Given the description of an element on the screen output the (x, y) to click on. 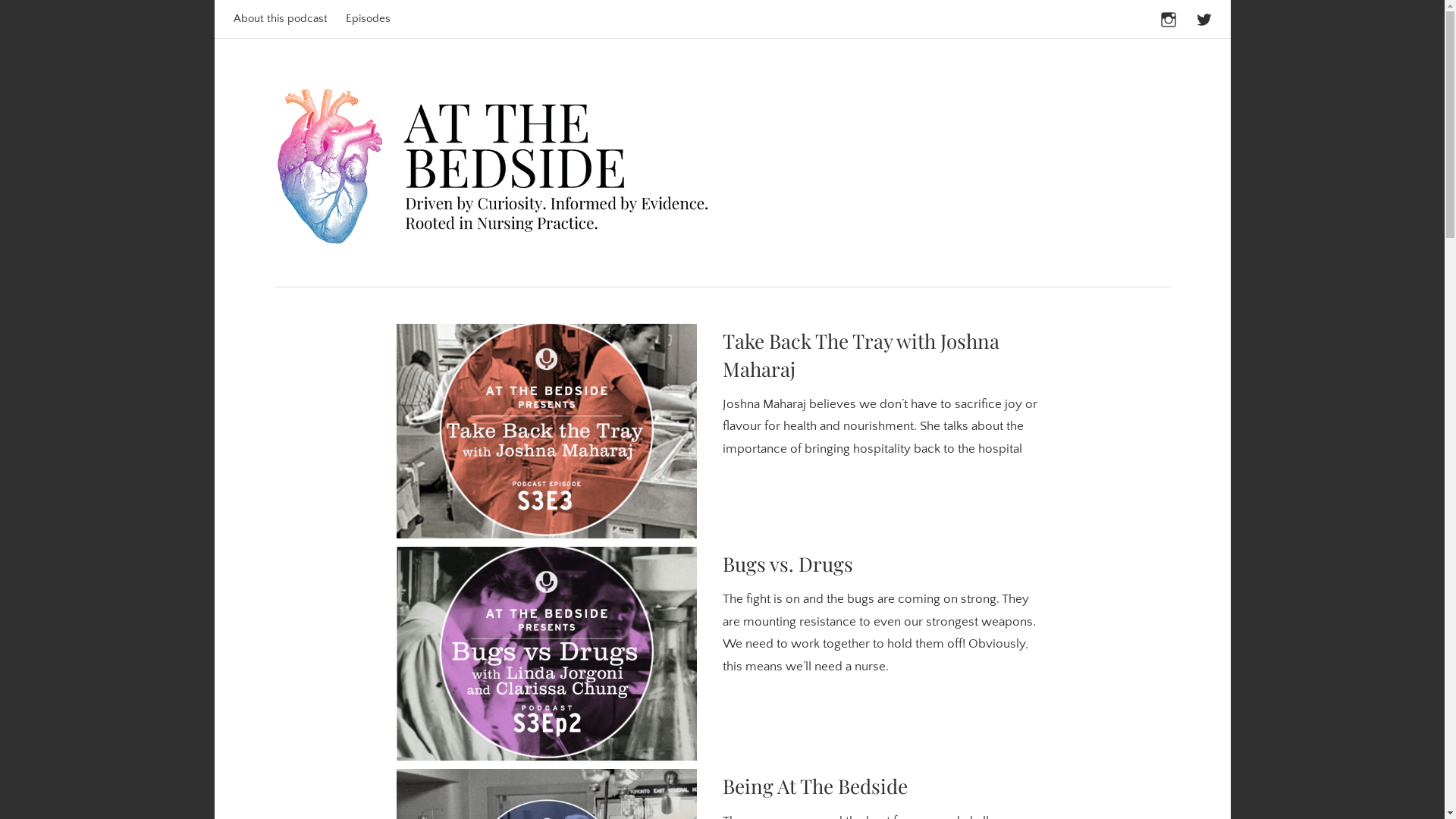
About this podcast Element type: text (280, 18)
At the Bedside Element type: text (832, 100)
Episodes Element type: text (367, 18)
Skip to content Element type: text (274, 37)
Instagram Element type: text (1168, 17)
Twitter Element type: text (1204, 17)
Bugs vs. Drugs Element type: text (786, 563)
Being At The Bedside Element type: text (813, 785)
Take Back The Tray with Joshna Maharaj Element type: text (859, 354)
